Given the description of an element on the screen output the (x, y) to click on. 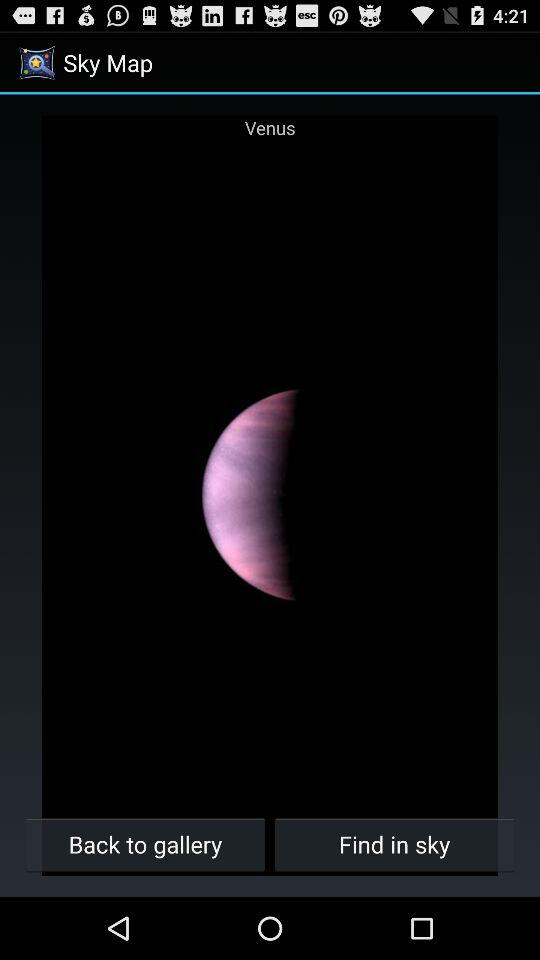
scroll to back to gallery (145, 844)
